Given the description of an element on the screen output the (x, y) to click on. 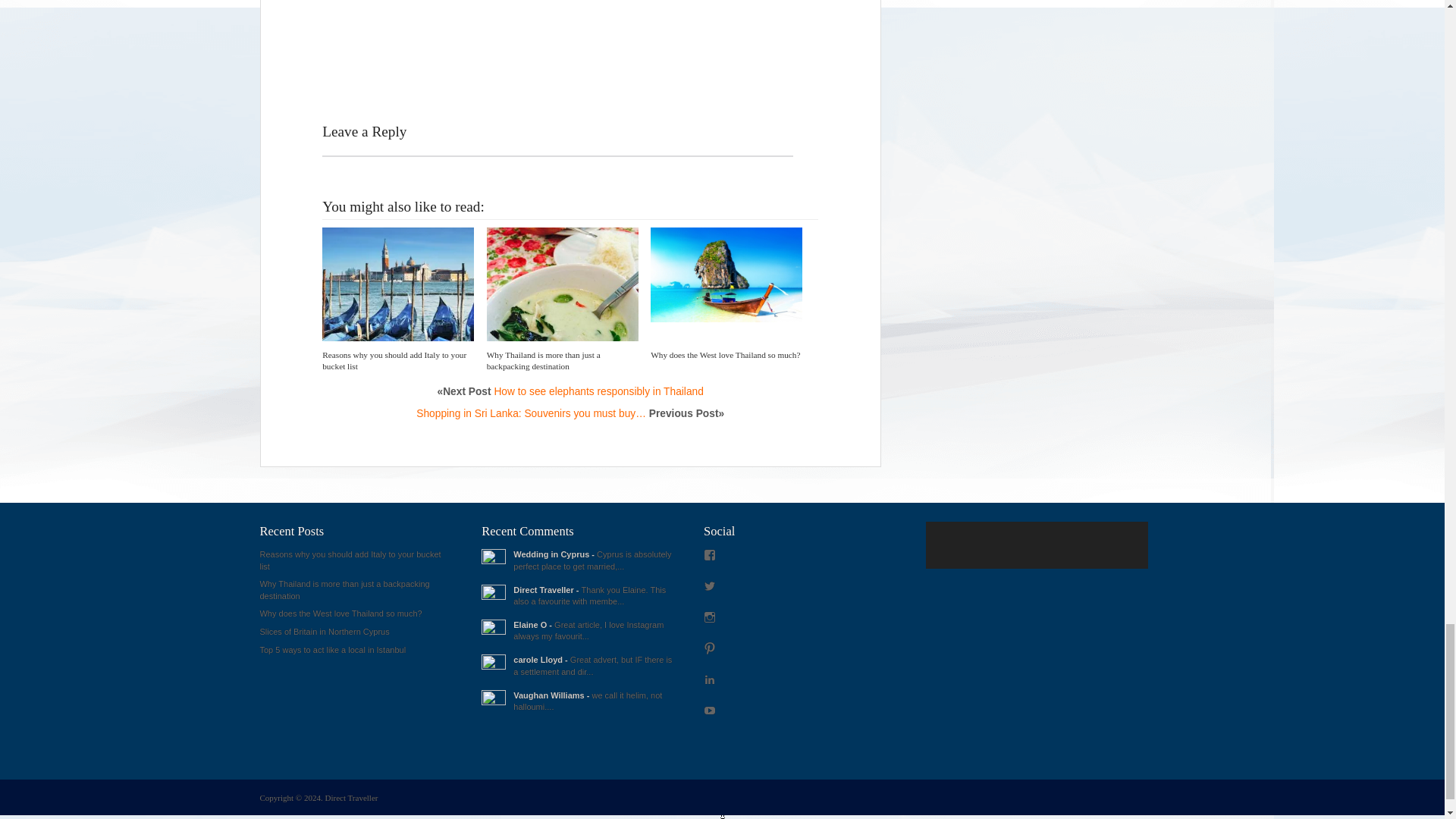
How to see elephants responsibly in Thailand (598, 391)
Why does the West love Thailand so much? (724, 354)
Reasons why you should add Italy to your bucket list (393, 360)
Why Thailand is more than just a backpacking destination (542, 360)
